Given the description of an element on the screen output the (x, y) to click on. 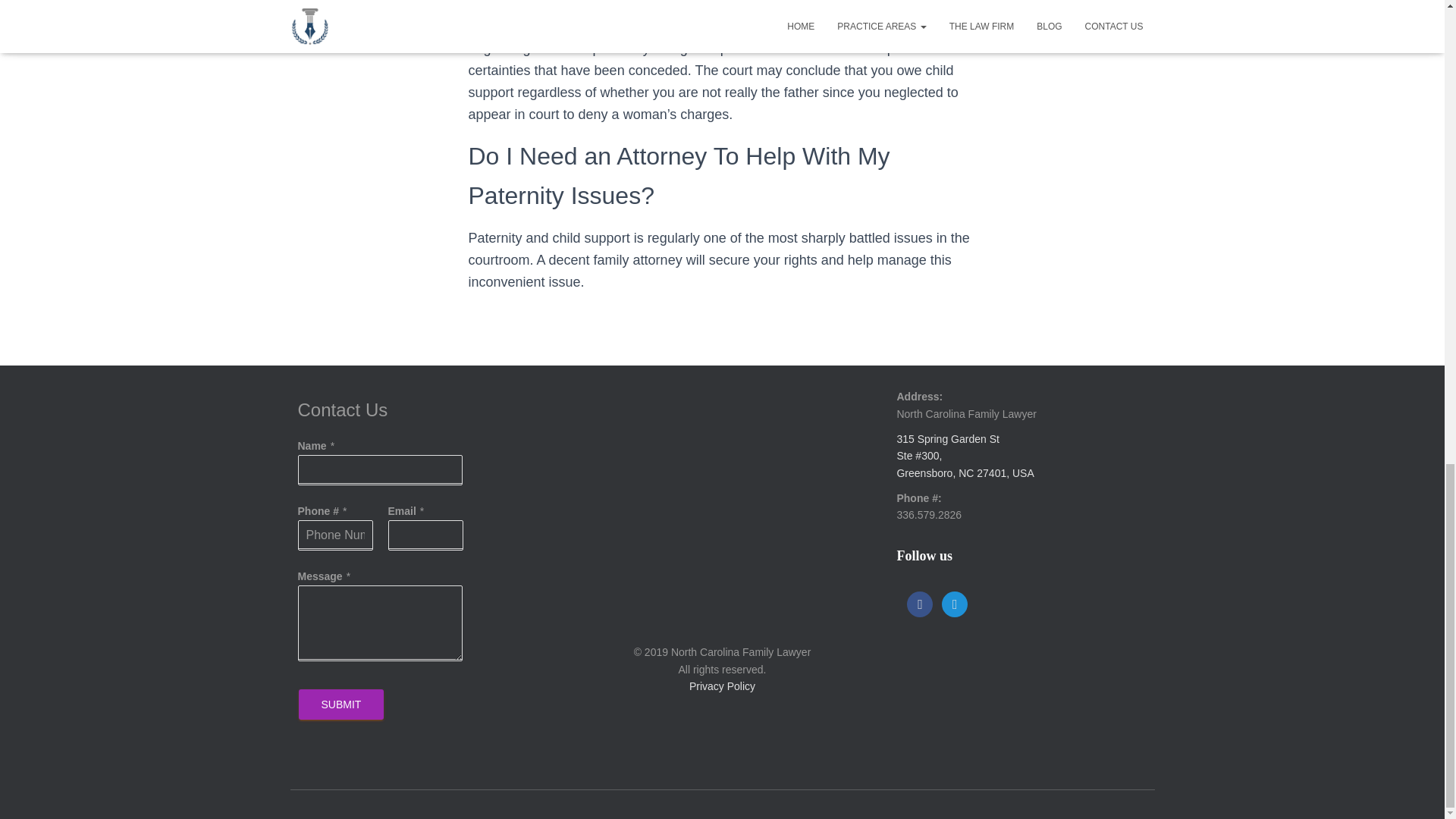
Greensboro, NC 27401, USA (964, 472)
Phone Number (334, 535)
Privacy Policy (721, 686)
315 Spring Garden St (947, 439)
SUBMIT (341, 704)
